Given the description of an element on the screen output the (x, y) to click on. 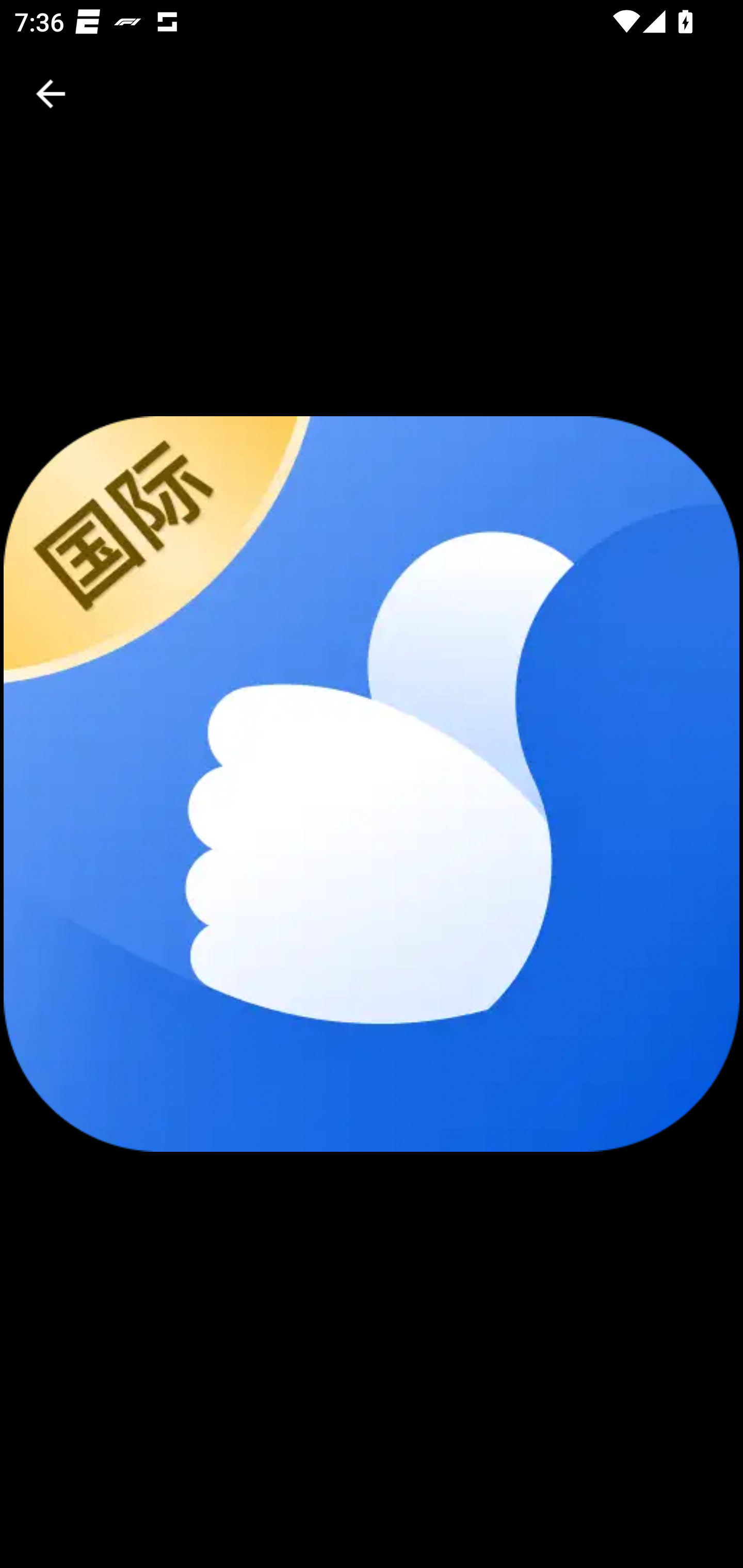
Back (50, 93)
